Given the description of an element on the screen output the (x, y) to click on. 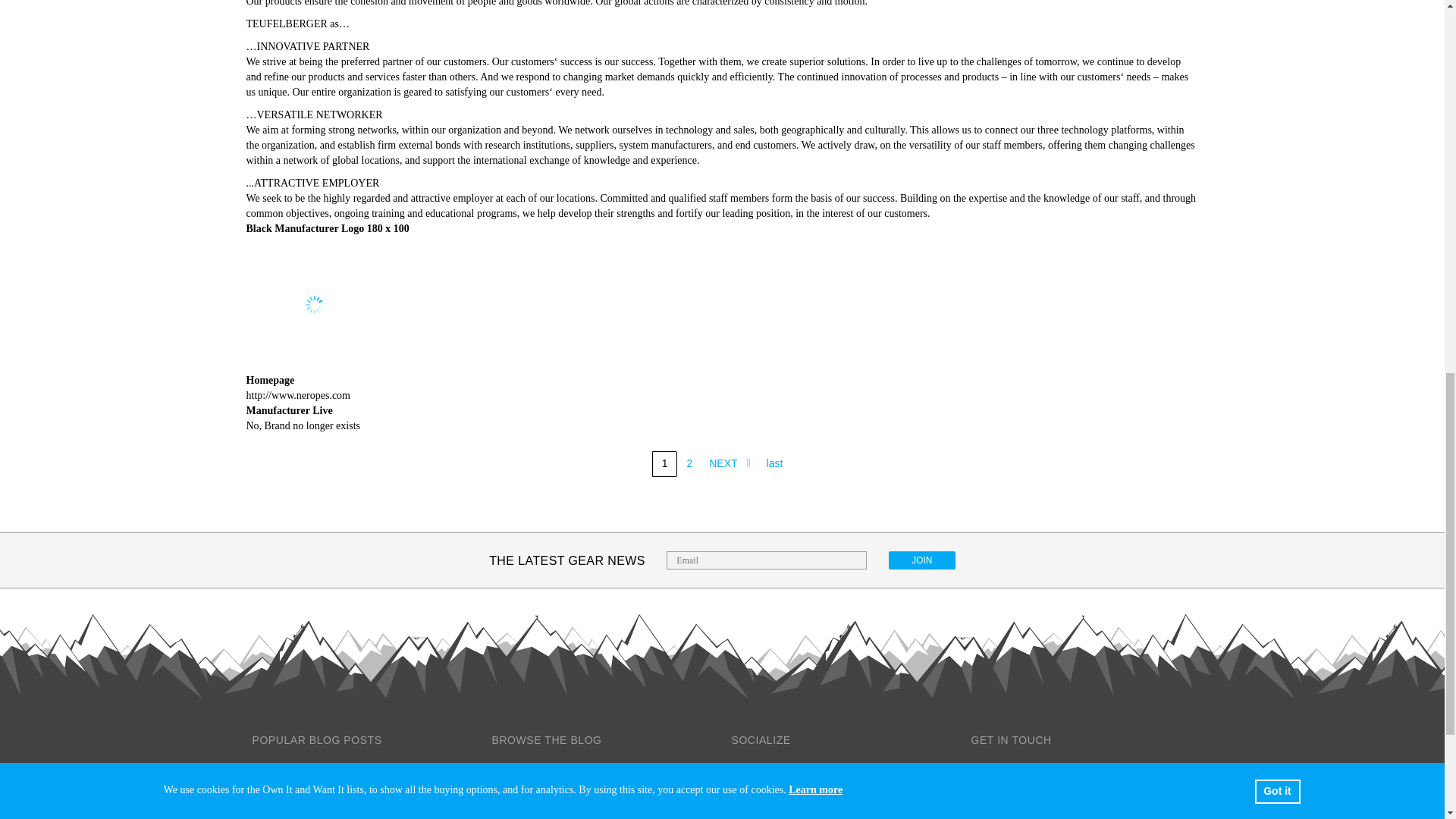
JOIN (921, 560)
